Given the description of an element on the screen output the (x, y) to click on. 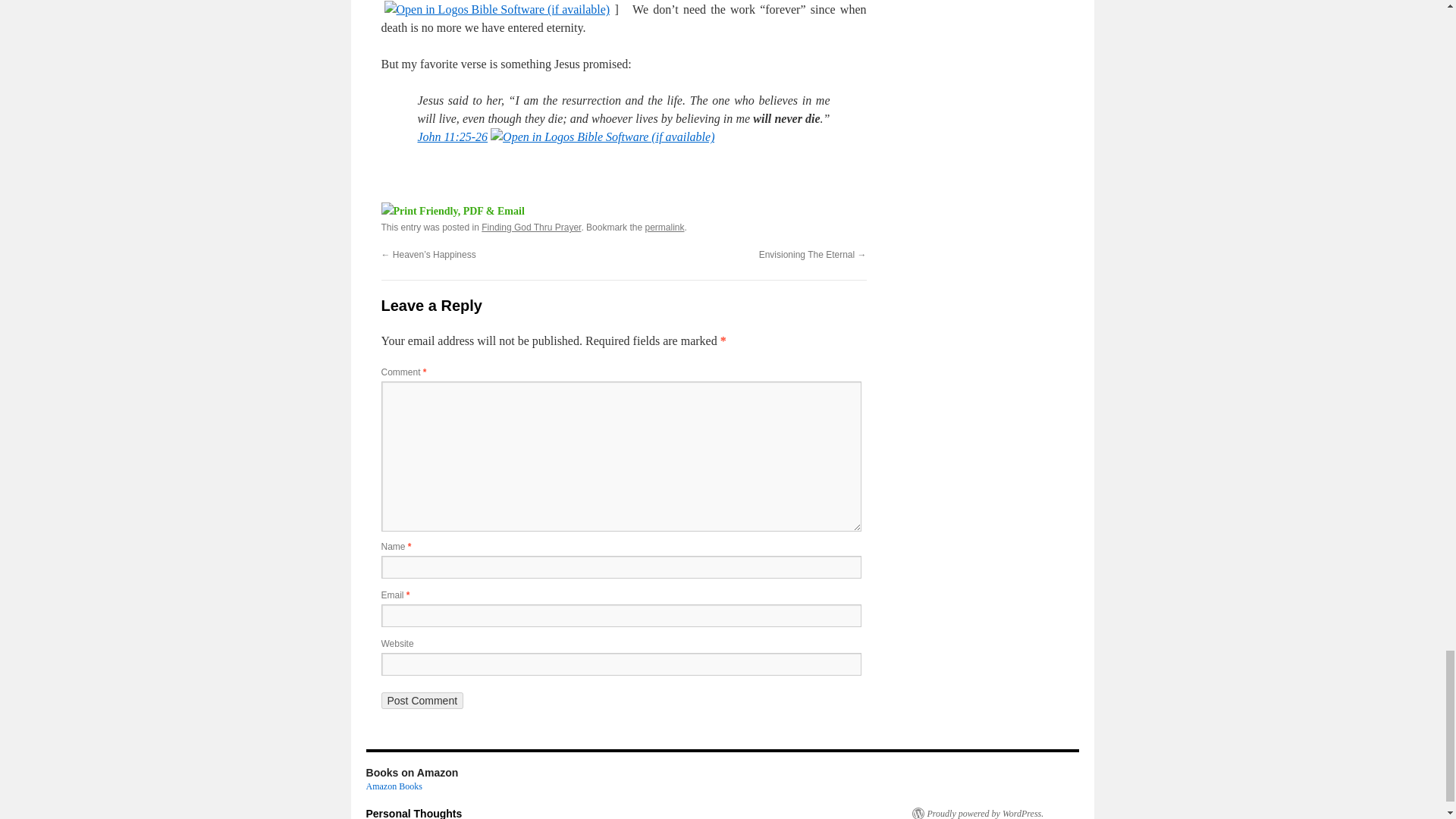
Post Comment (421, 700)
